Given the description of an element on the screen output the (x, y) to click on. 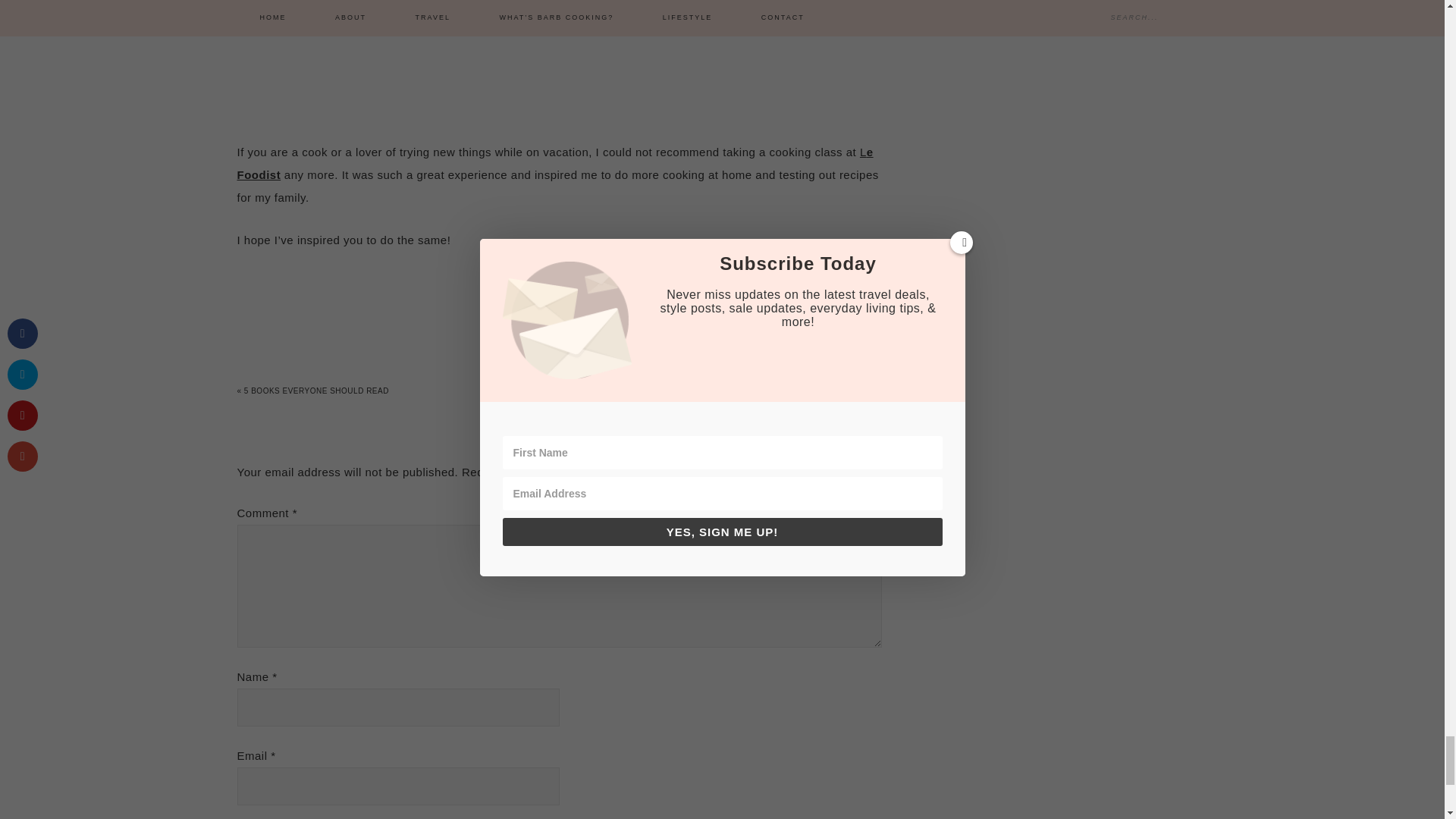
Le Foodist (553, 162)
ADD A COMMENT (558, 315)
